Given the description of an element on the screen output the (x, y) to click on. 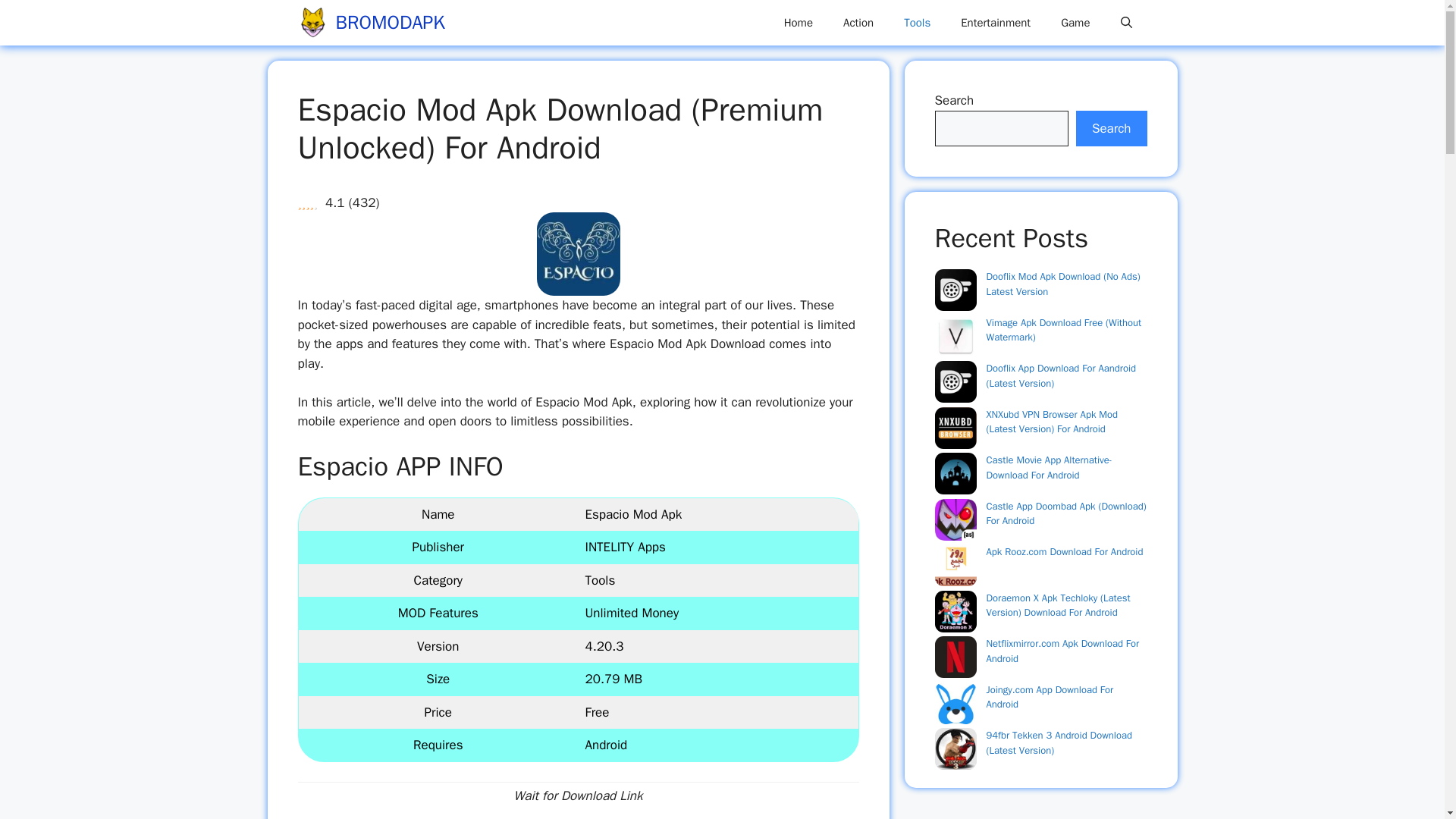
Home (798, 22)
Action (858, 22)
Tools (916, 22)
Castle Movie App Alternative- Download For Android (1048, 467)
Joingy.com App Download For Android (1049, 696)
Netflixmirror.com Apk Download For Android (1061, 651)
Entertainment (994, 22)
BROMODAPK (312, 22)
Apk Rooz.com Download For Android (1063, 551)
BROMODAPK (389, 22)
Search (1111, 128)
Game (1075, 22)
